Given the description of an element on the screen output the (x, y) to click on. 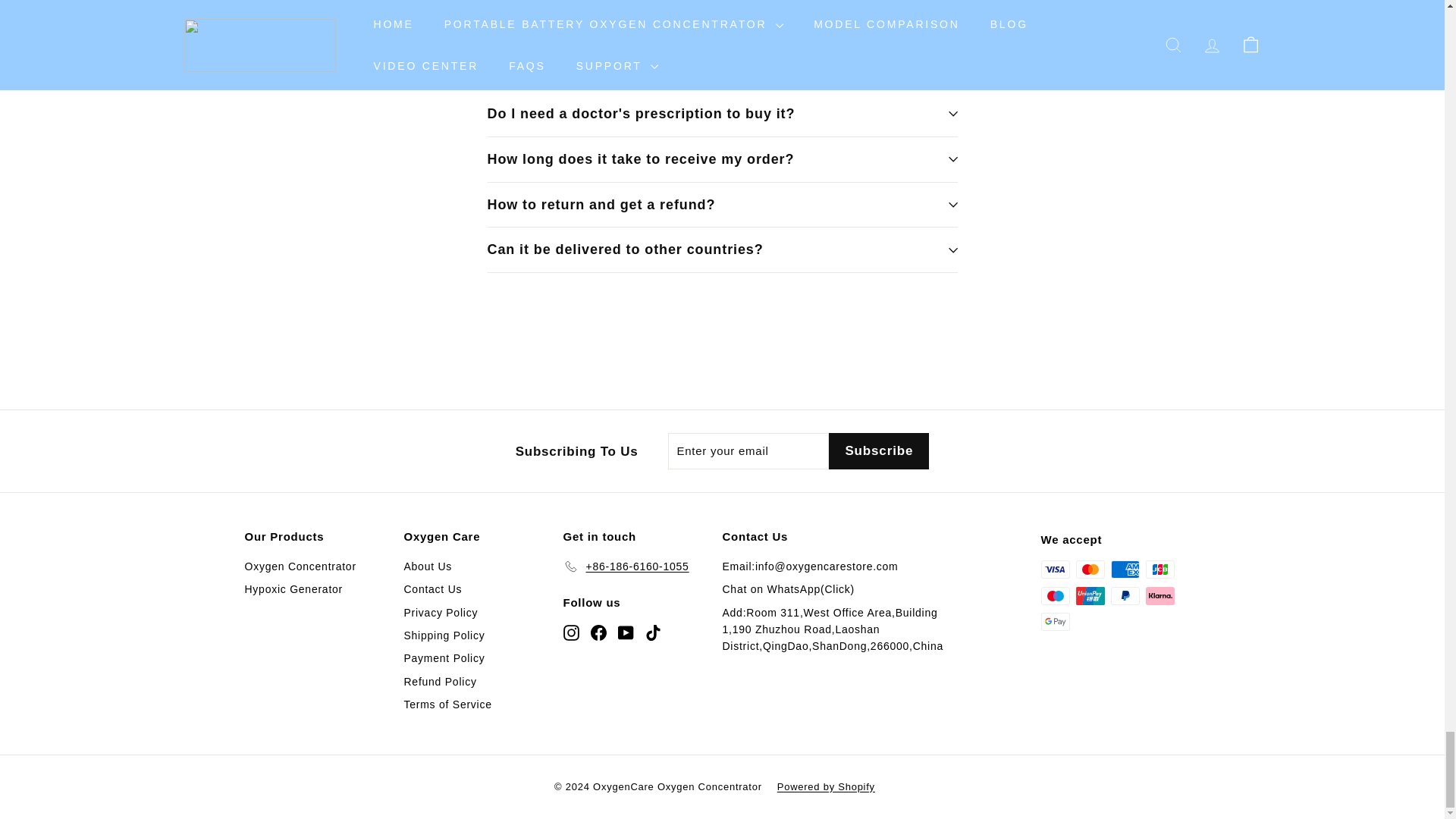
OxygenCare on Facebook (597, 631)
OxygenCare on Instagram (570, 631)
instagram (570, 632)
